Given the description of an element on the screen output the (x, y) to click on. 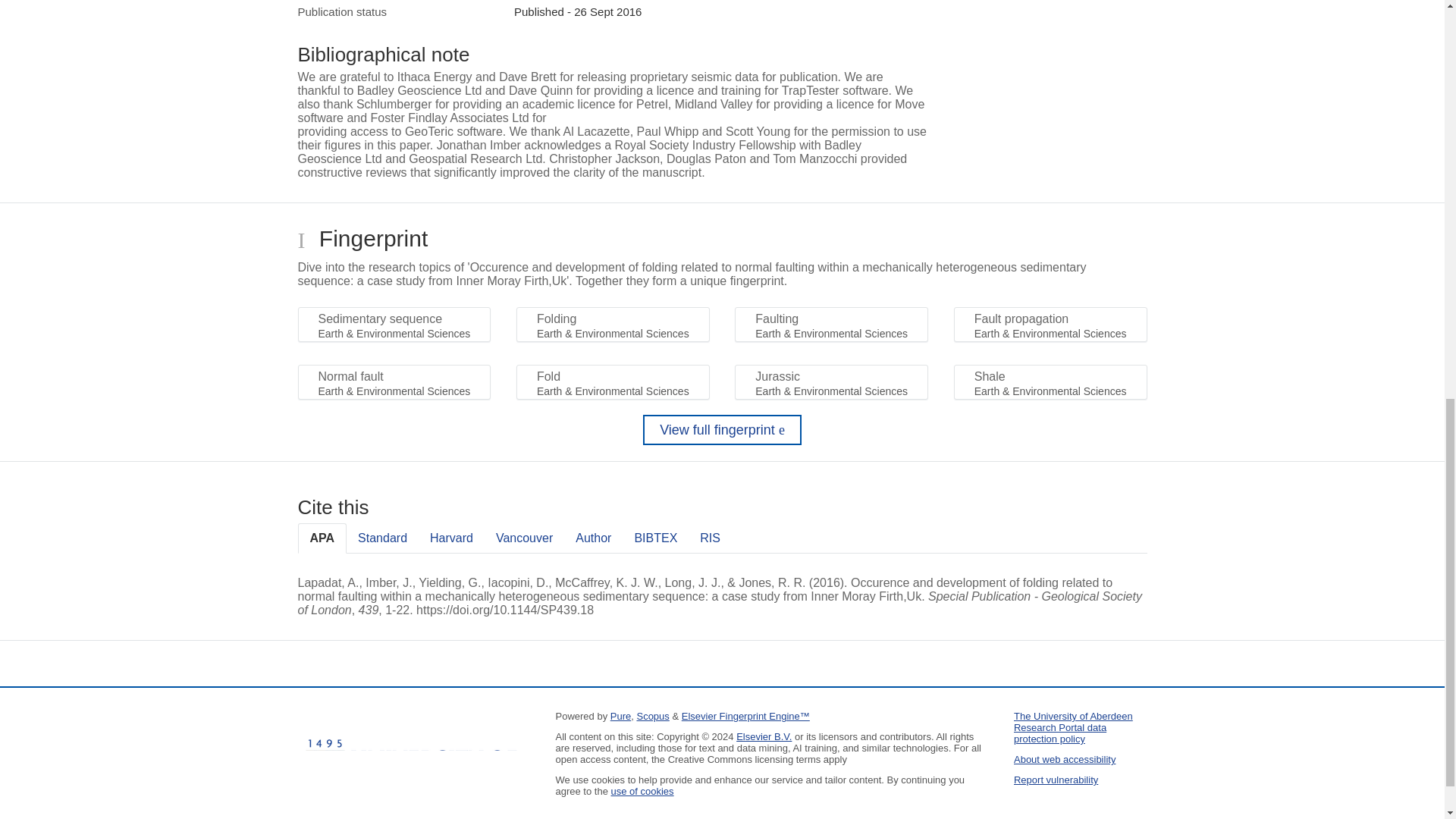
View full fingerprint (722, 429)
Pure (620, 715)
